Given the description of an element on the screen output the (x, y) to click on. 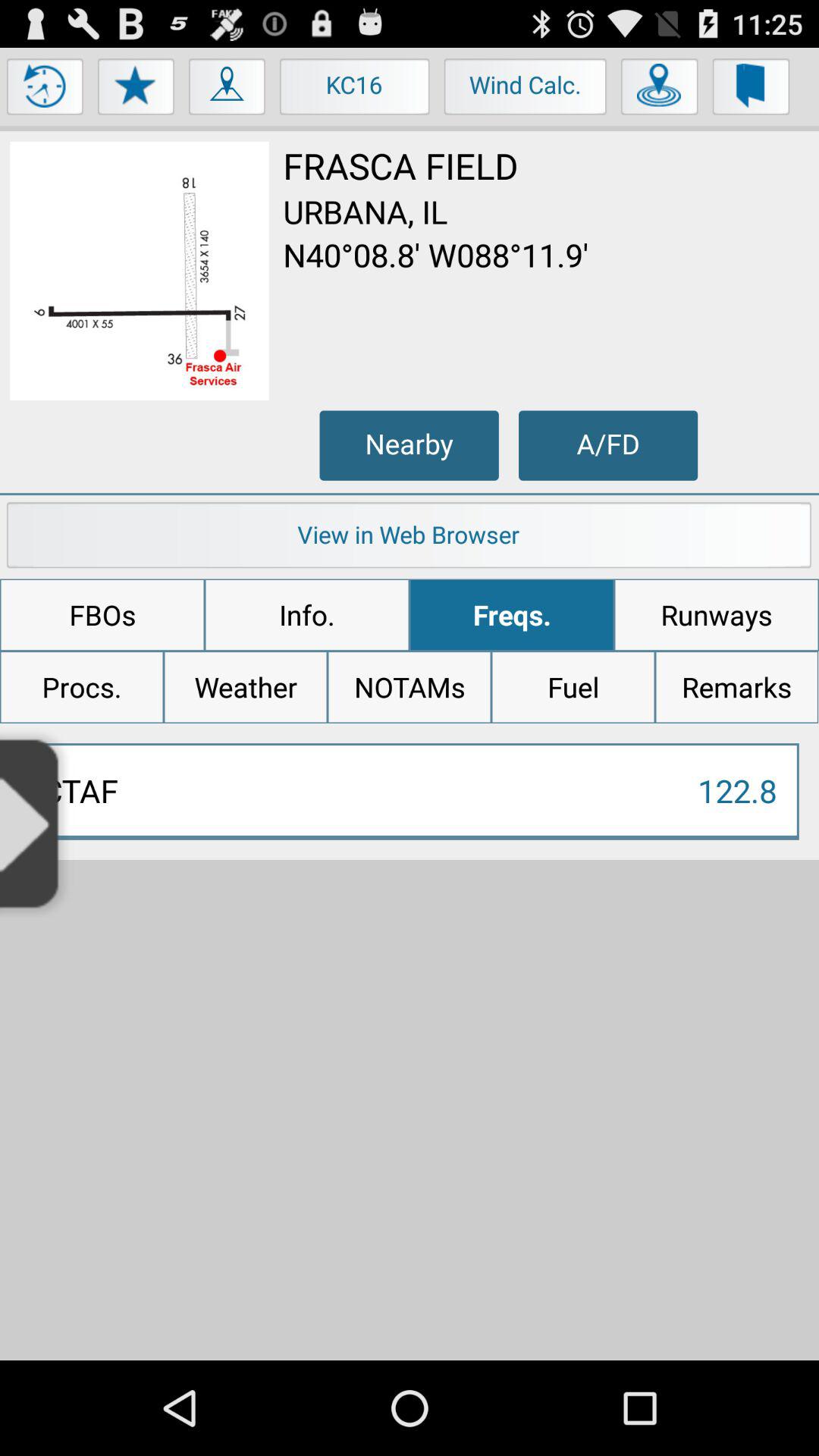
turn on button next to wind calc. (659, 90)
